Given the description of an element on the screen output the (x, y) to click on. 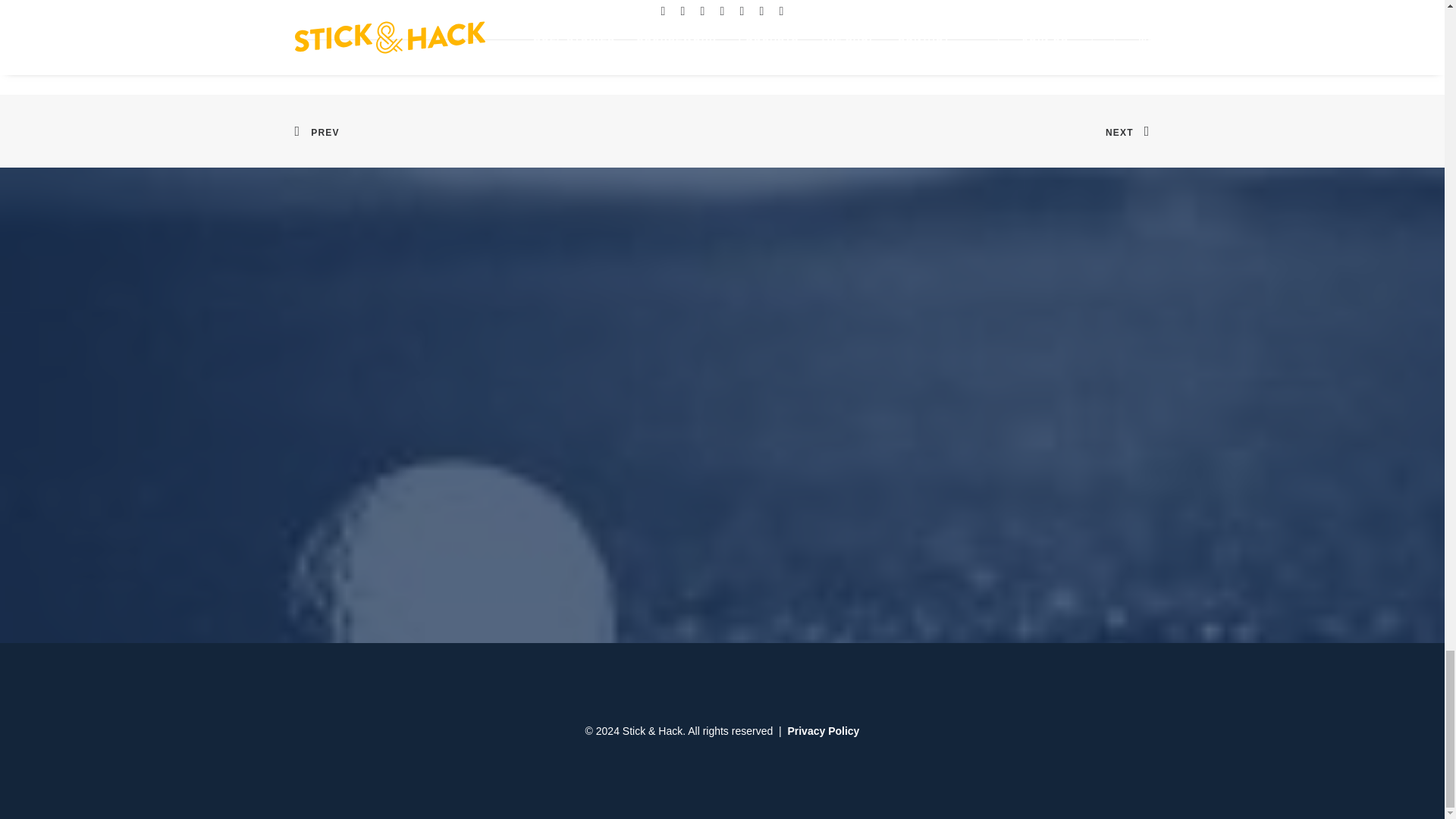
NEXT (1127, 130)
PREV (316, 130)
